Given the description of an element on the screen output the (x, y) to click on. 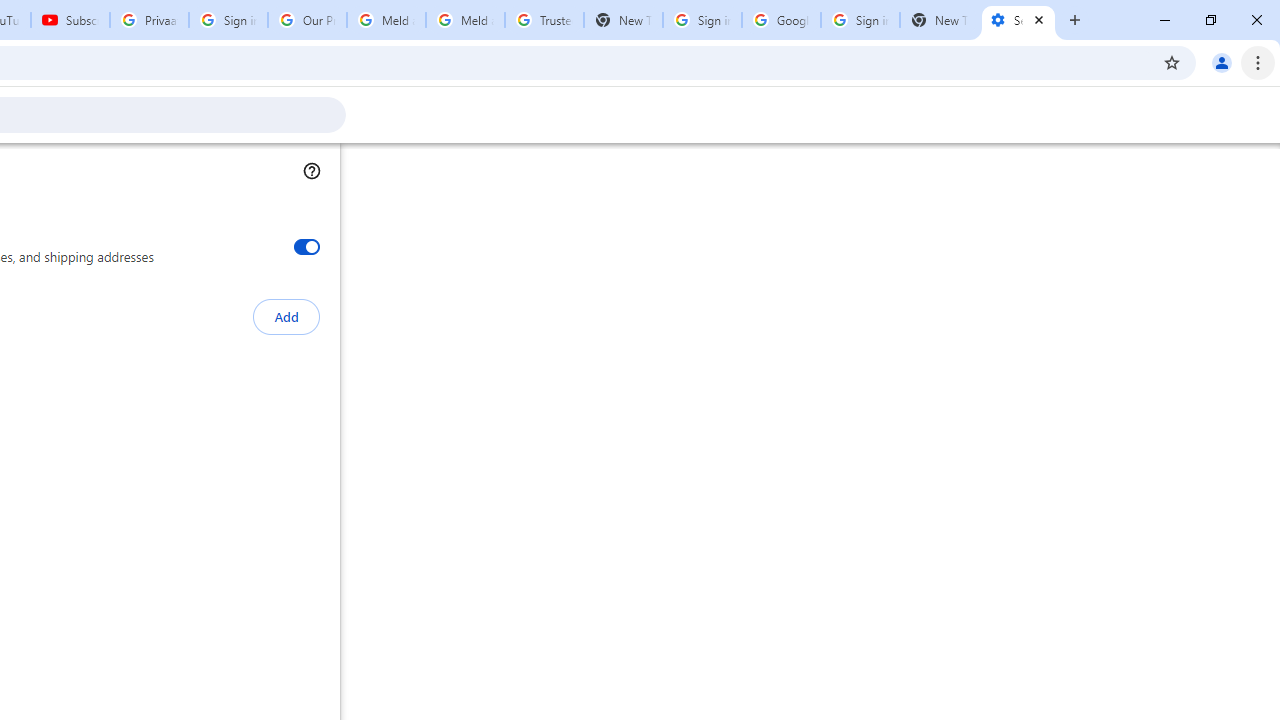
Sign in - Google Accounts (702, 20)
Trusted Information and Content - Google Safety Center (544, 20)
Google Cybersecurity Innovations - Google Safety Center (781, 20)
